Given the description of an element on the screen output the (x, y) to click on. 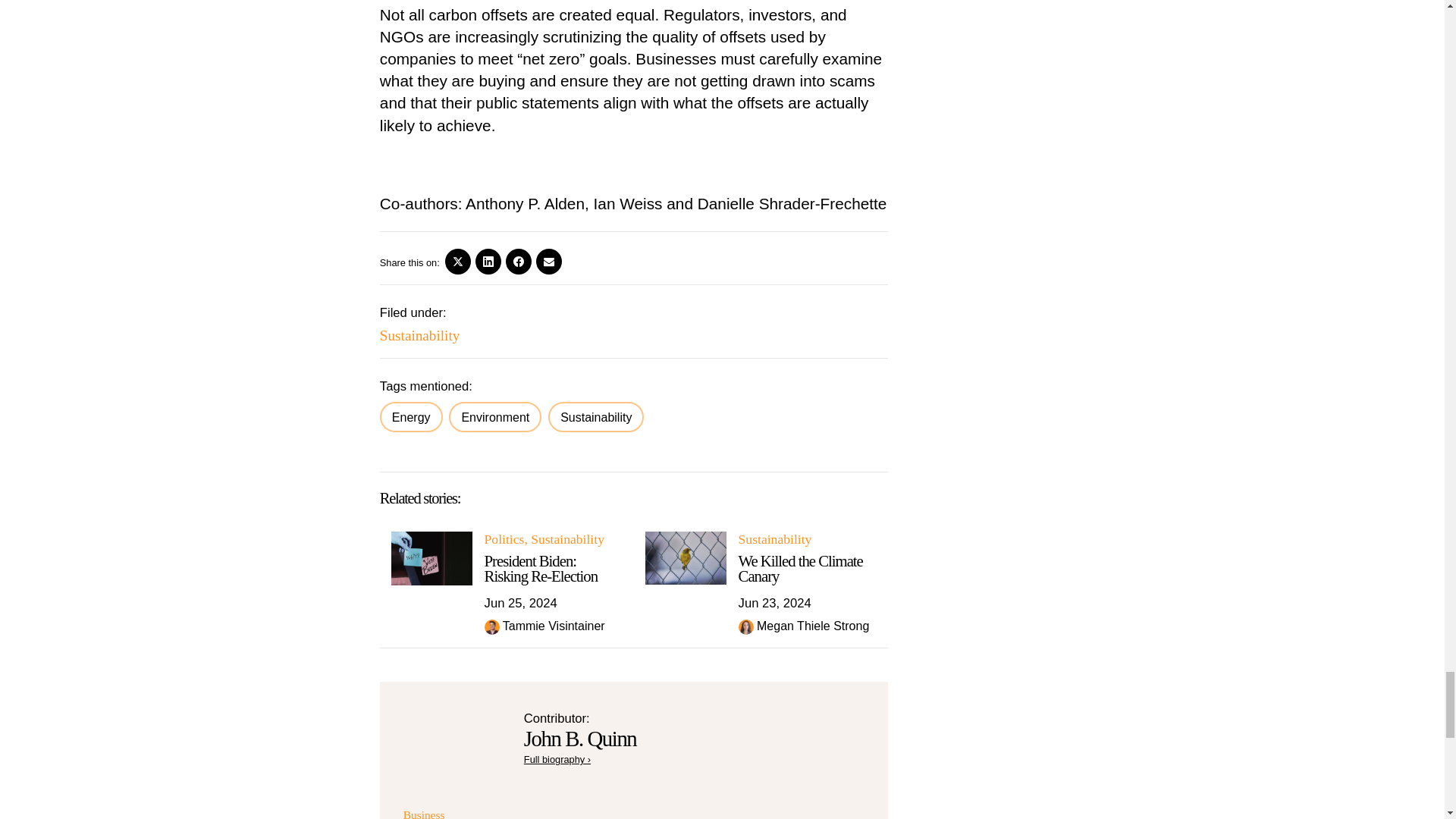
John B. Quinn (557, 758)
Posts by Megan Thiele Strong (813, 625)
Posts by John B. Quinn (580, 738)
Posts by Tammie Visintainer (553, 625)
